Given the description of an element on the screen output the (x, y) to click on. 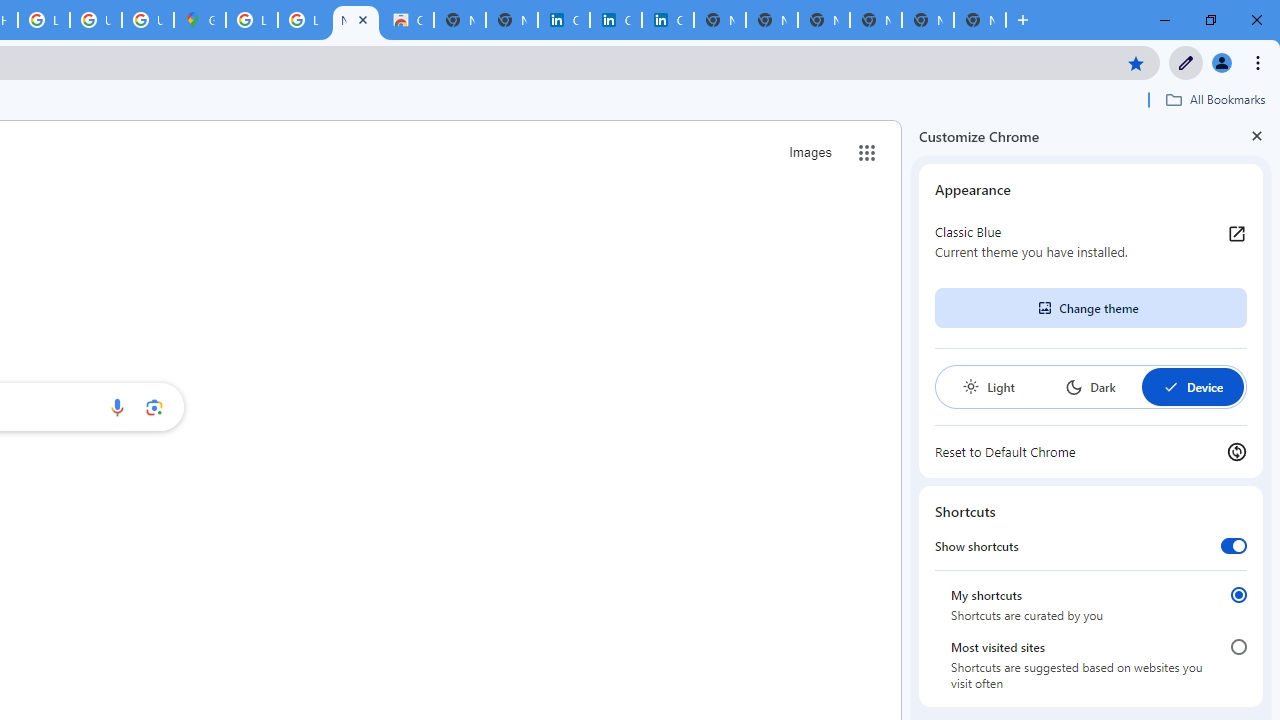
Classic Blue Current theme you have installed. (1091, 241)
Most visited sites (1238, 647)
Chrome Web Store (407, 20)
Reset to Default Chrome (1091, 452)
Cookie Policy | LinkedIn (616, 20)
Google Maps (200, 20)
Light (988, 386)
AutomationID: baseSvg (1170, 386)
